Given the description of an element on the screen output the (x, y) to click on. 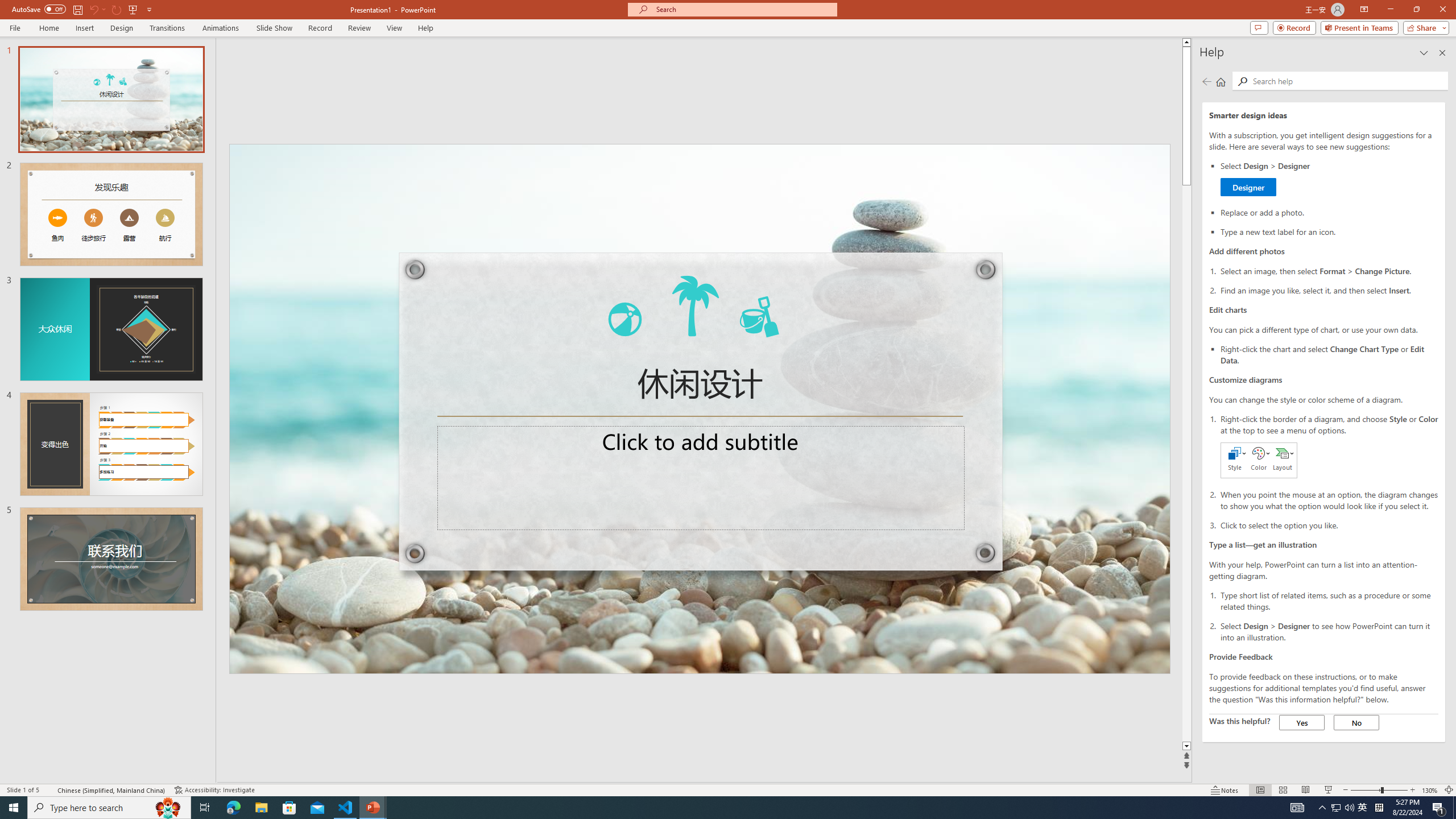
Spell Check  (49, 790)
No (1355, 722)
